Given the description of an element on the screen output the (x, y) to click on. 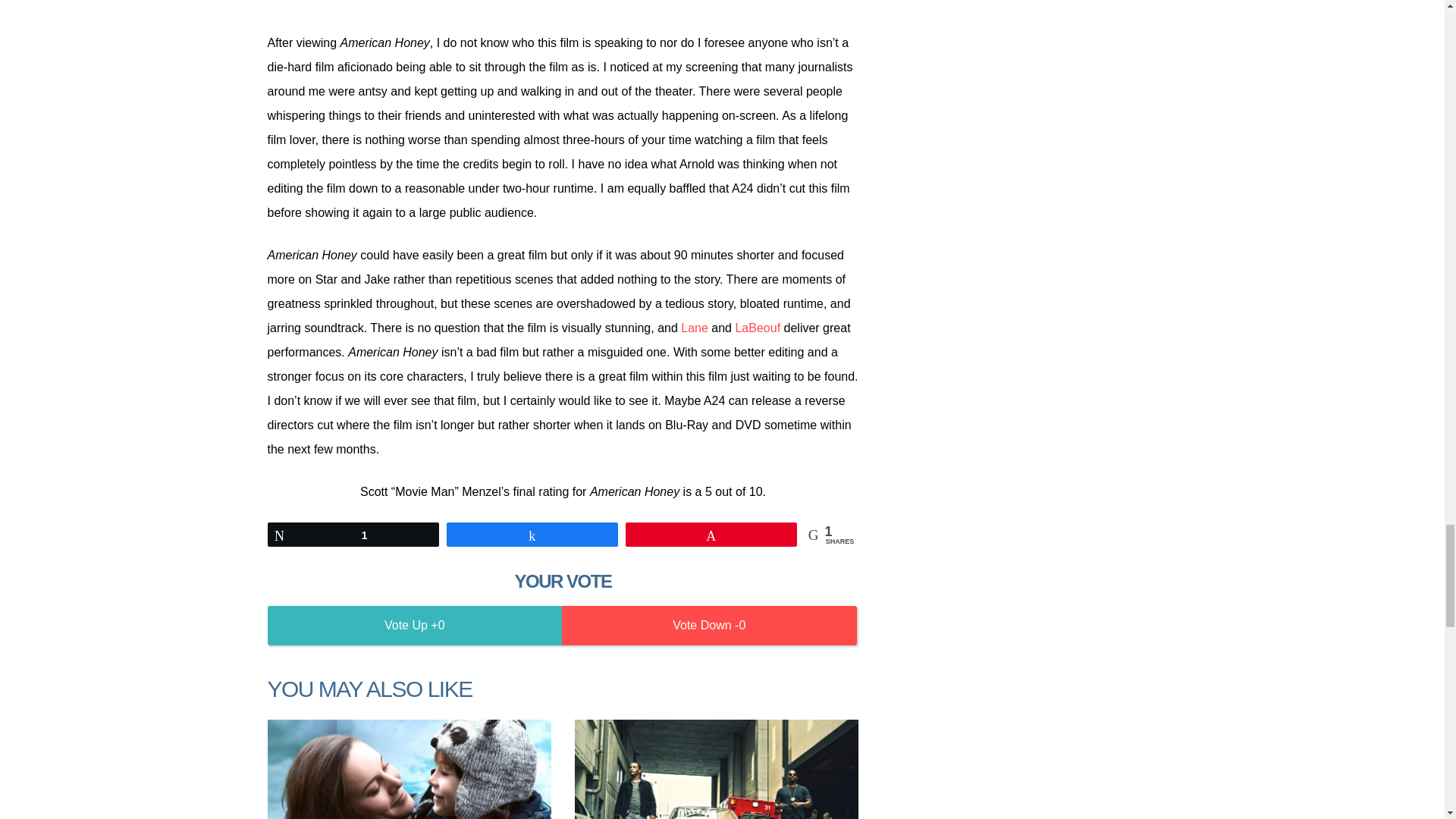
15 Must See Films Playing at TIFF 2015 (408, 769)
